Given the description of an element on the screen output the (x, y) to click on. 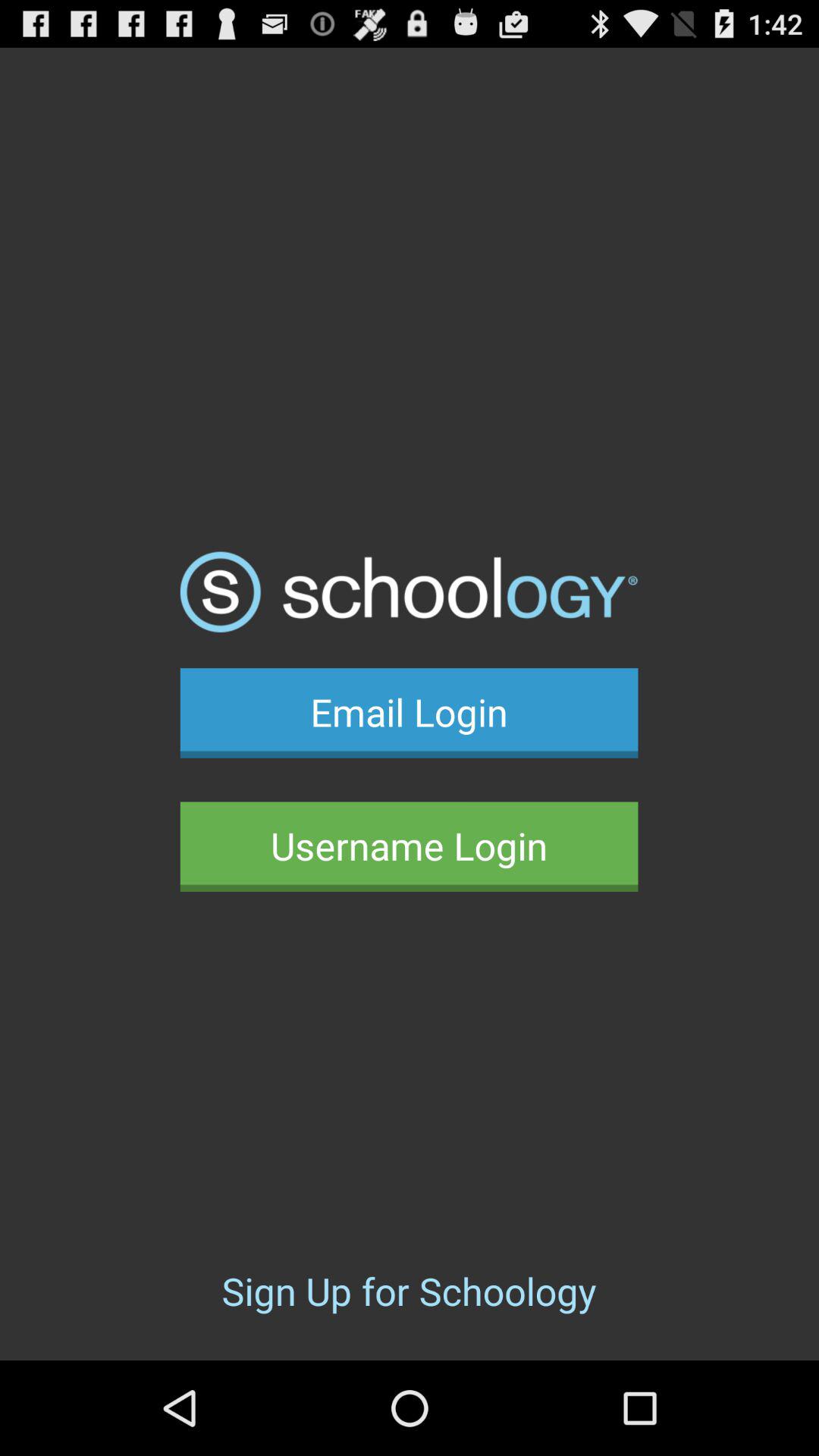
click icon below the username login (408, 1290)
